Given the description of an element on the screen output the (x, y) to click on. 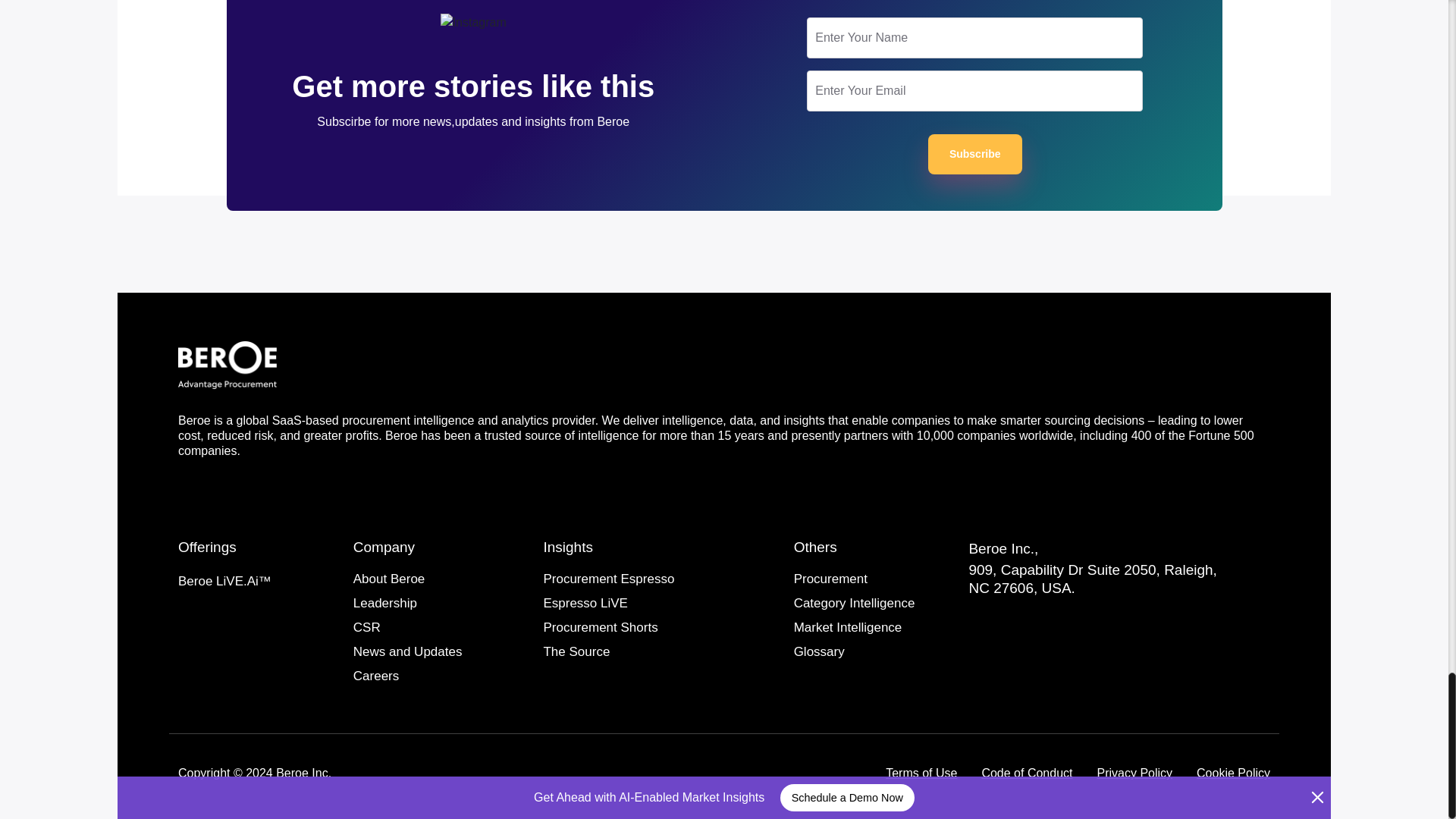
Subscribe (975, 154)
Please enter a valid email address (974, 90)
Please enter a valid name (974, 37)
